Given the description of an element on the screen output the (x, y) to click on. 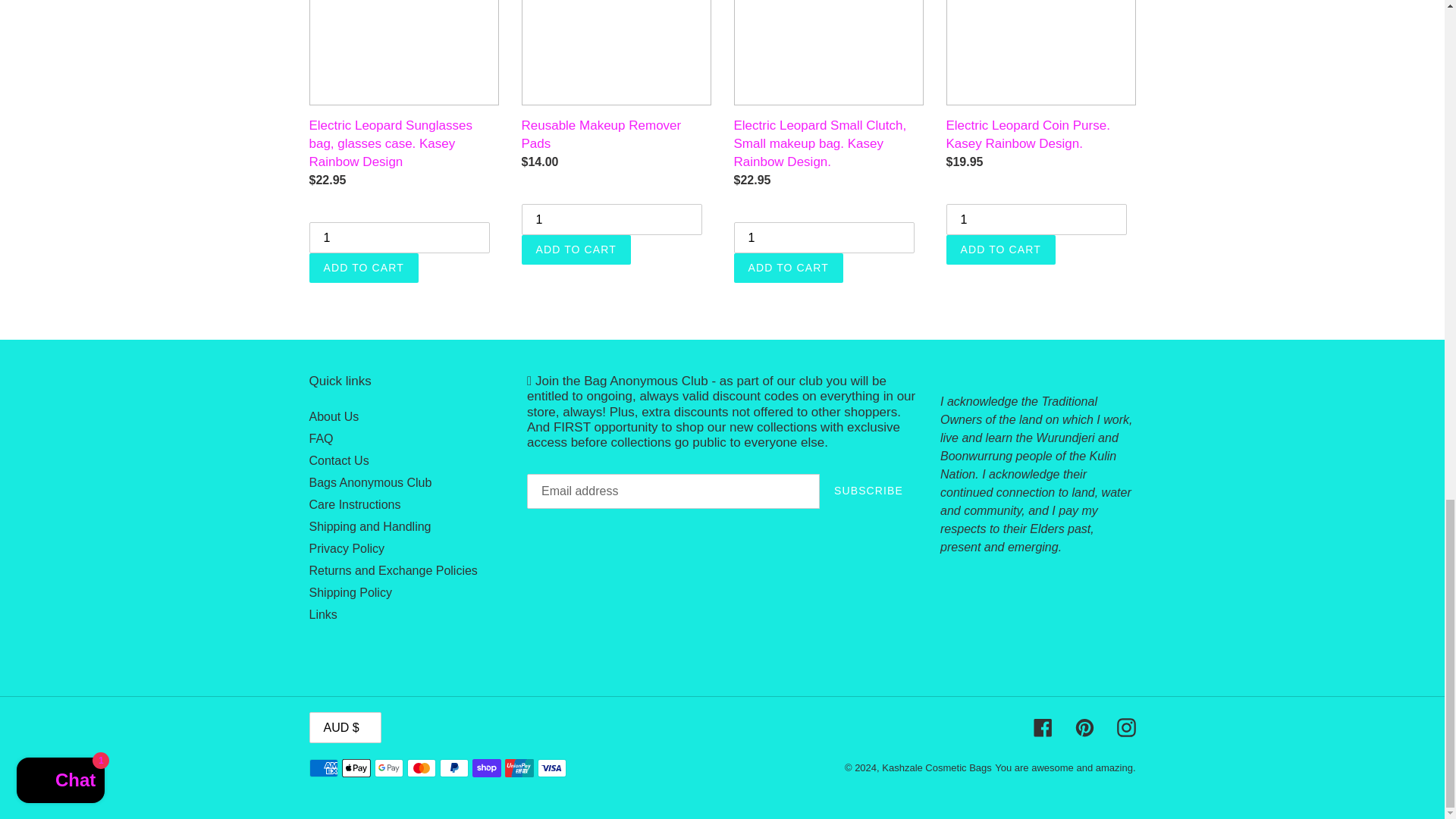
1 (611, 219)
Add to cart (575, 249)
Add to cart (788, 267)
Add to cart (363, 267)
1 (1036, 219)
1 (823, 237)
1 (398, 237)
Add to cart (1000, 249)
